Given the description of an element on the screen output the (x, y) to click on. 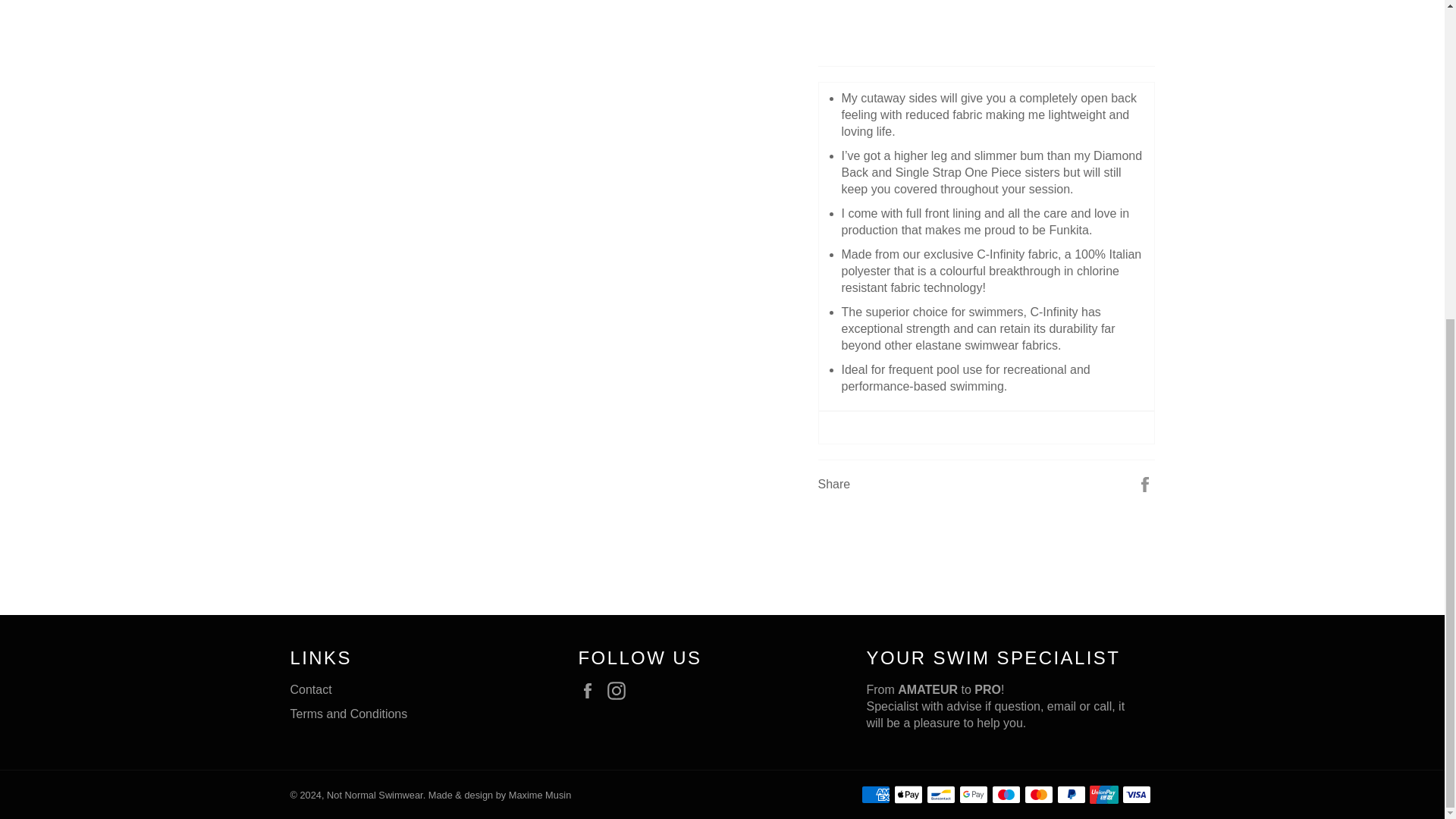
Not Normal Swimwear on Instagram (620, 690)
Share on Facebook (1144, 482)
Not Normal Swimwear on Facebook (591, 690)
